Given the description of an element on the screen output the (x, y) to click on. 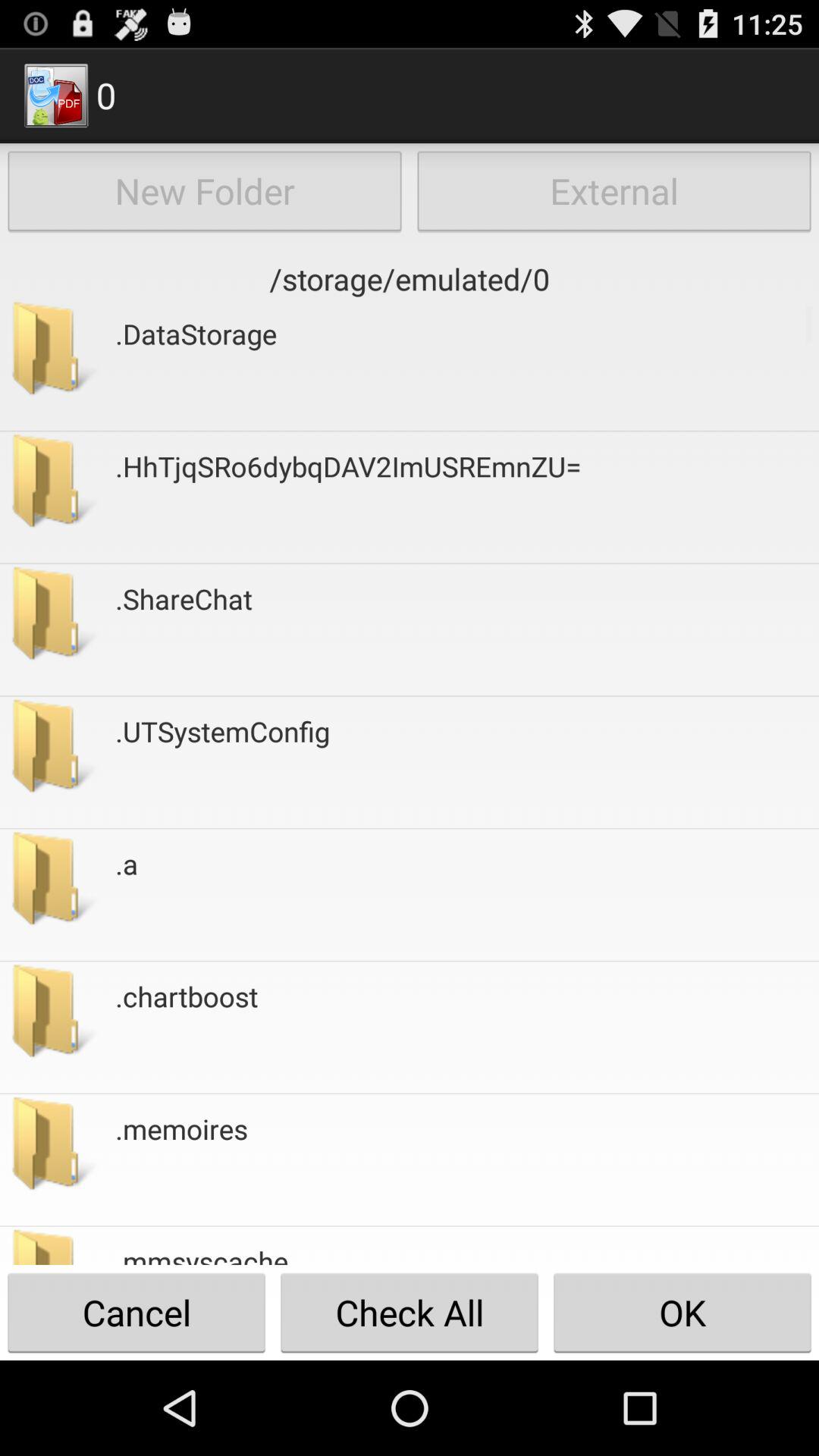
choose the button to the left of the ok (201, 1253)
